Given the description of an element on the screen output the (x, y) to click on. 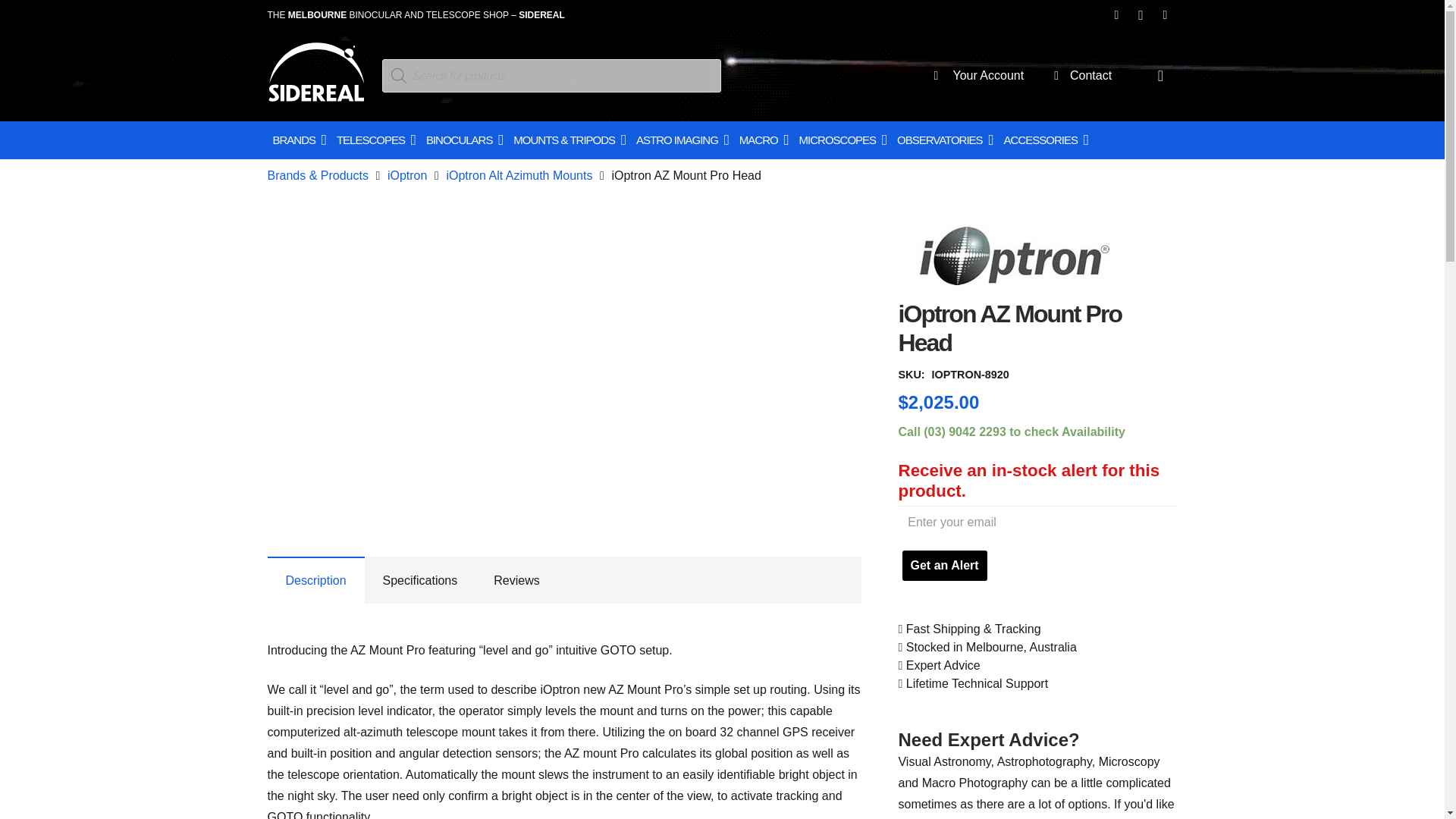
Contact (1098, 75)
BRANDS (298, 145)
Instagram (1140, 15)
Facebook (1115, 15)
Google (1164, 15)
Your Account (1000, 75)
View brand (1011, 287)
